Given the description of an element on the screen output the (x, y) to click on. 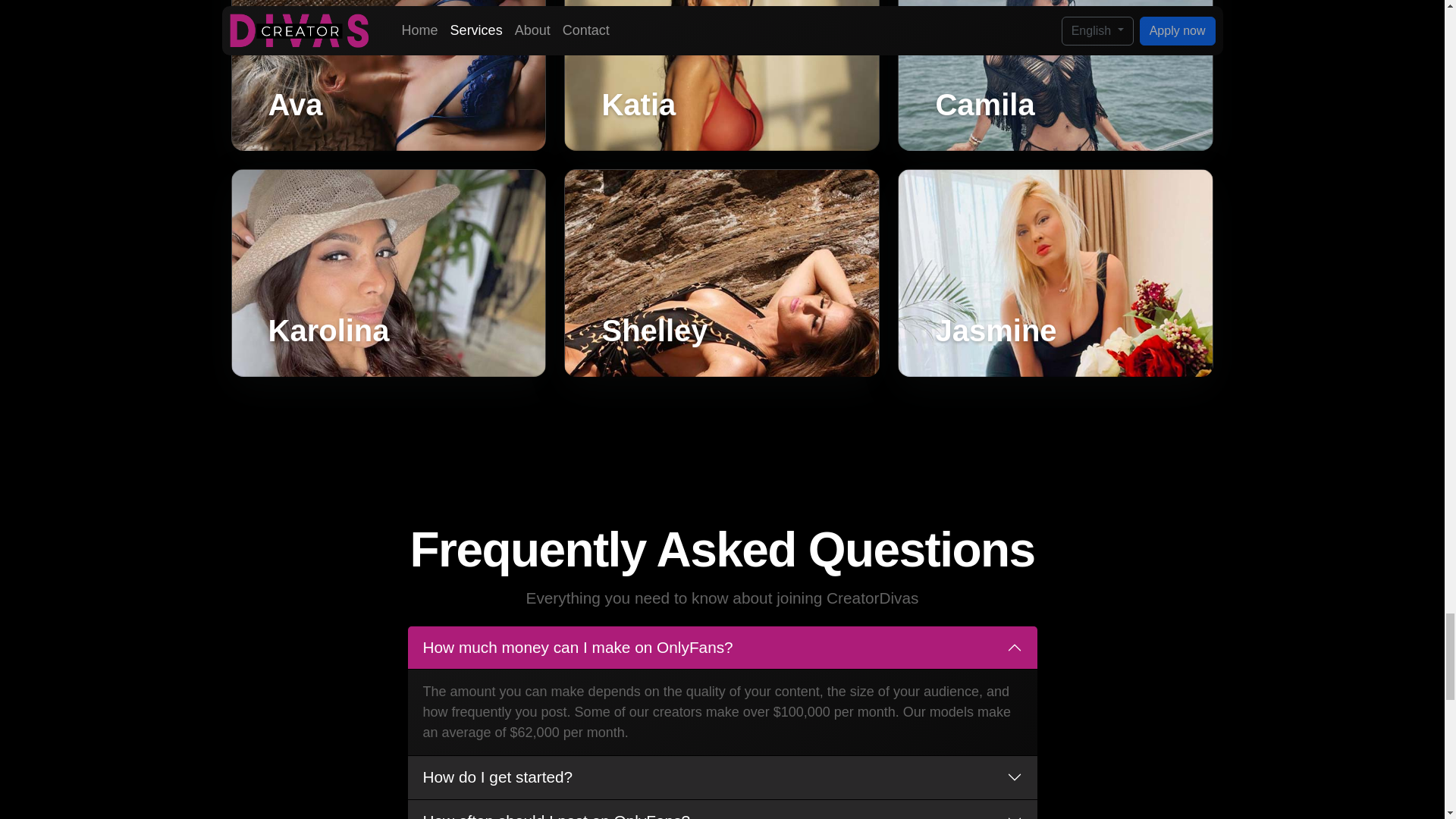
How do I get started? (721, 777)
How often should I post on OnlyFans? (721, 809)
How much money can I make on OnlyFans? (721, 647)
